Given the description of an element on the screen output the (x, y) to click on. 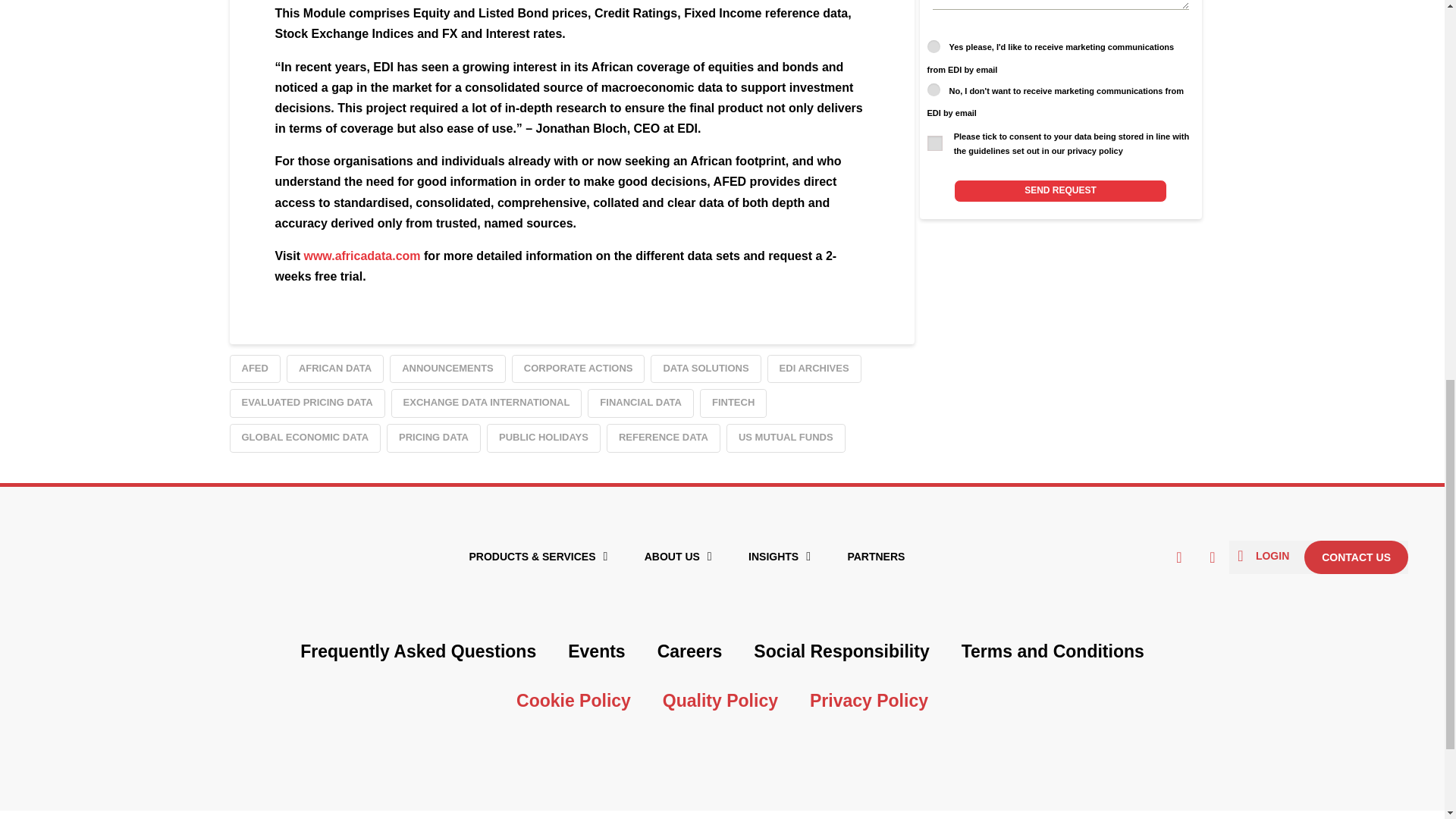
1 (934, 142)
SEND REQUEST (1060, 190)
